Given the description of an element on the screen output the (x, y) to click on. 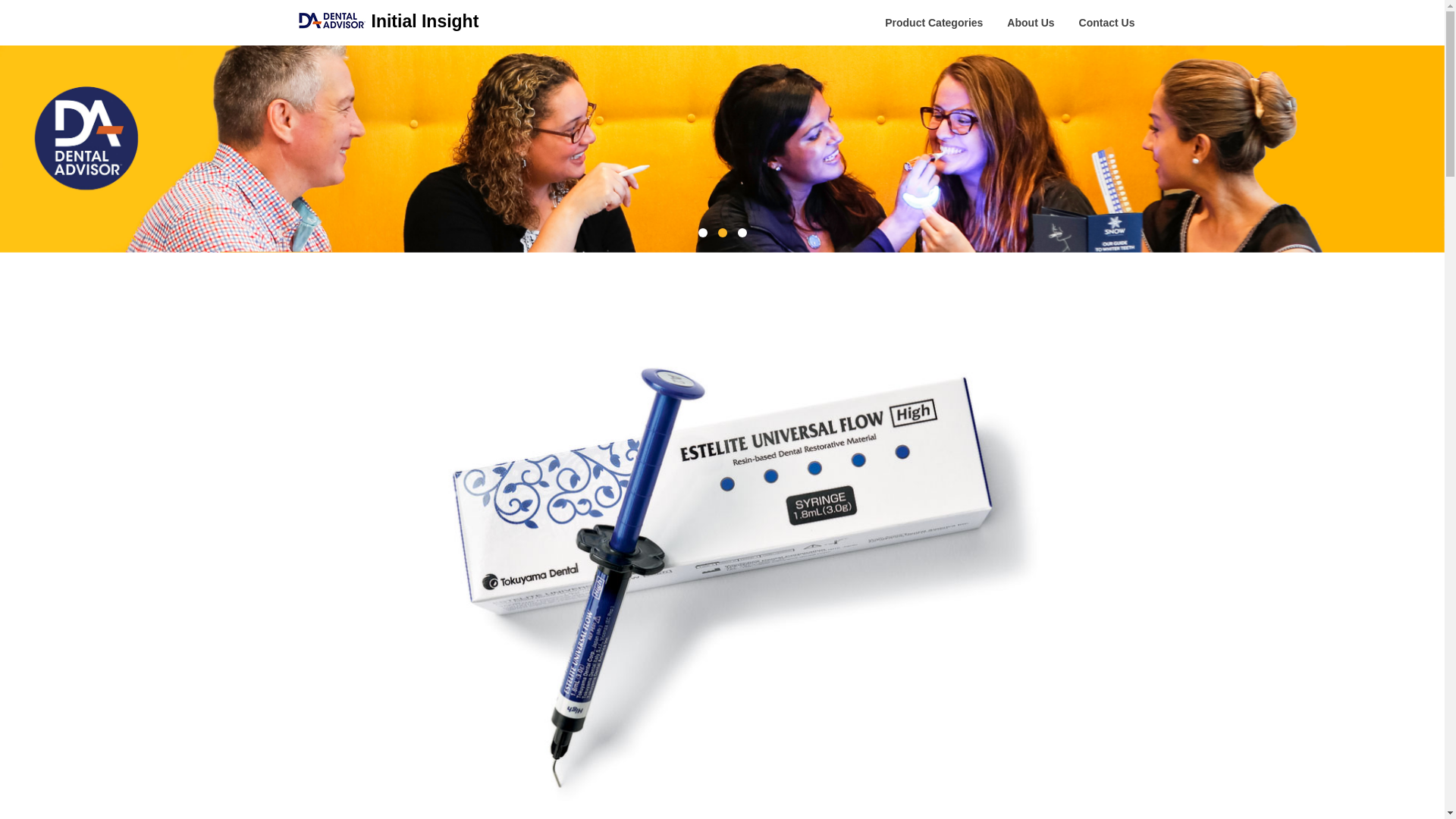
Product Categories (933, 22)
Contact Us (1107, 22)
Initial Insight (425, 21)
About Us (1029, 22)
